Given the description of an element on the screen output the (x, y) to click on. 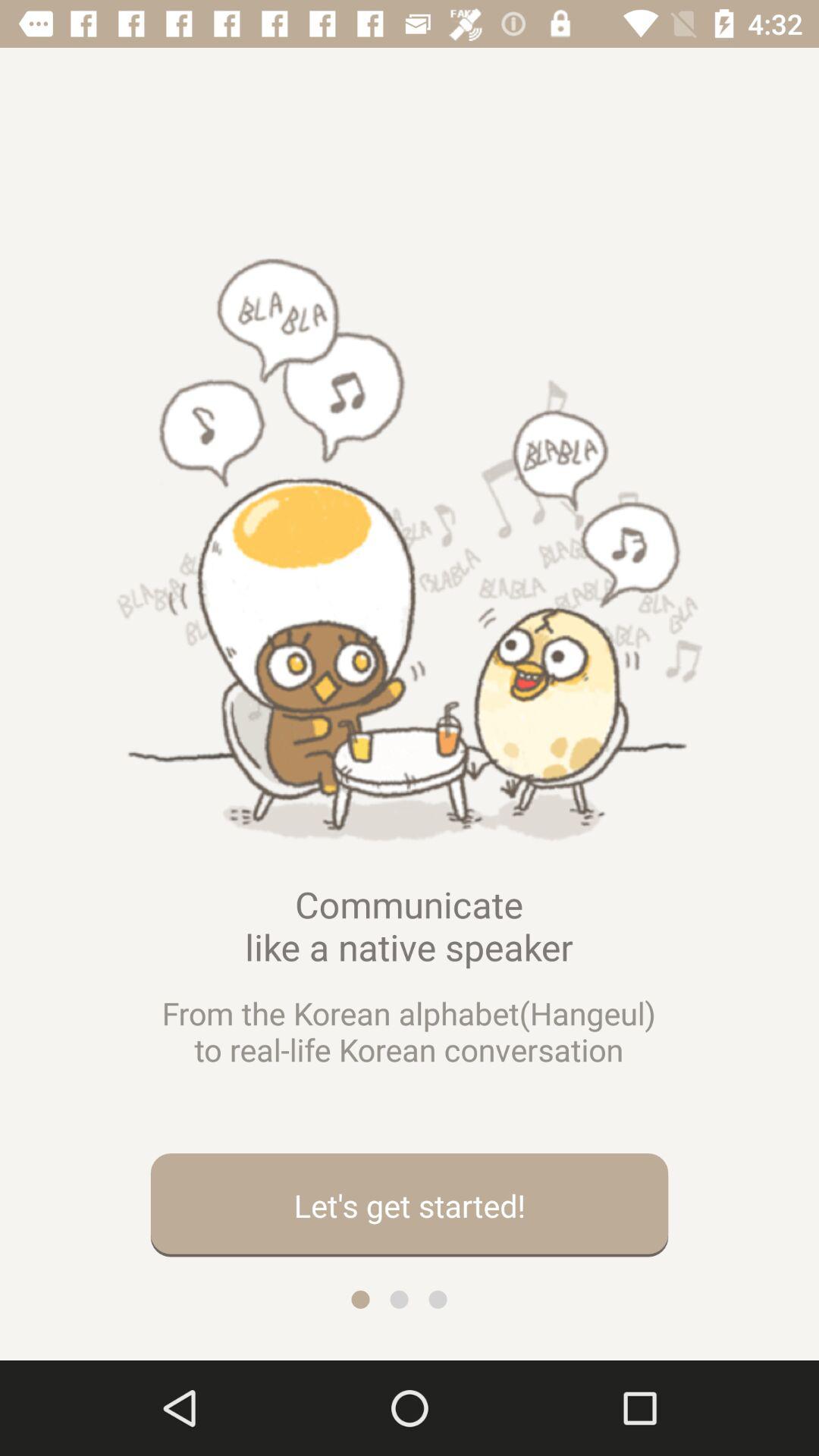
swipe until the let s get button (409, 1204)
